Given the description of an element on the screen output the (x, y) to click on. 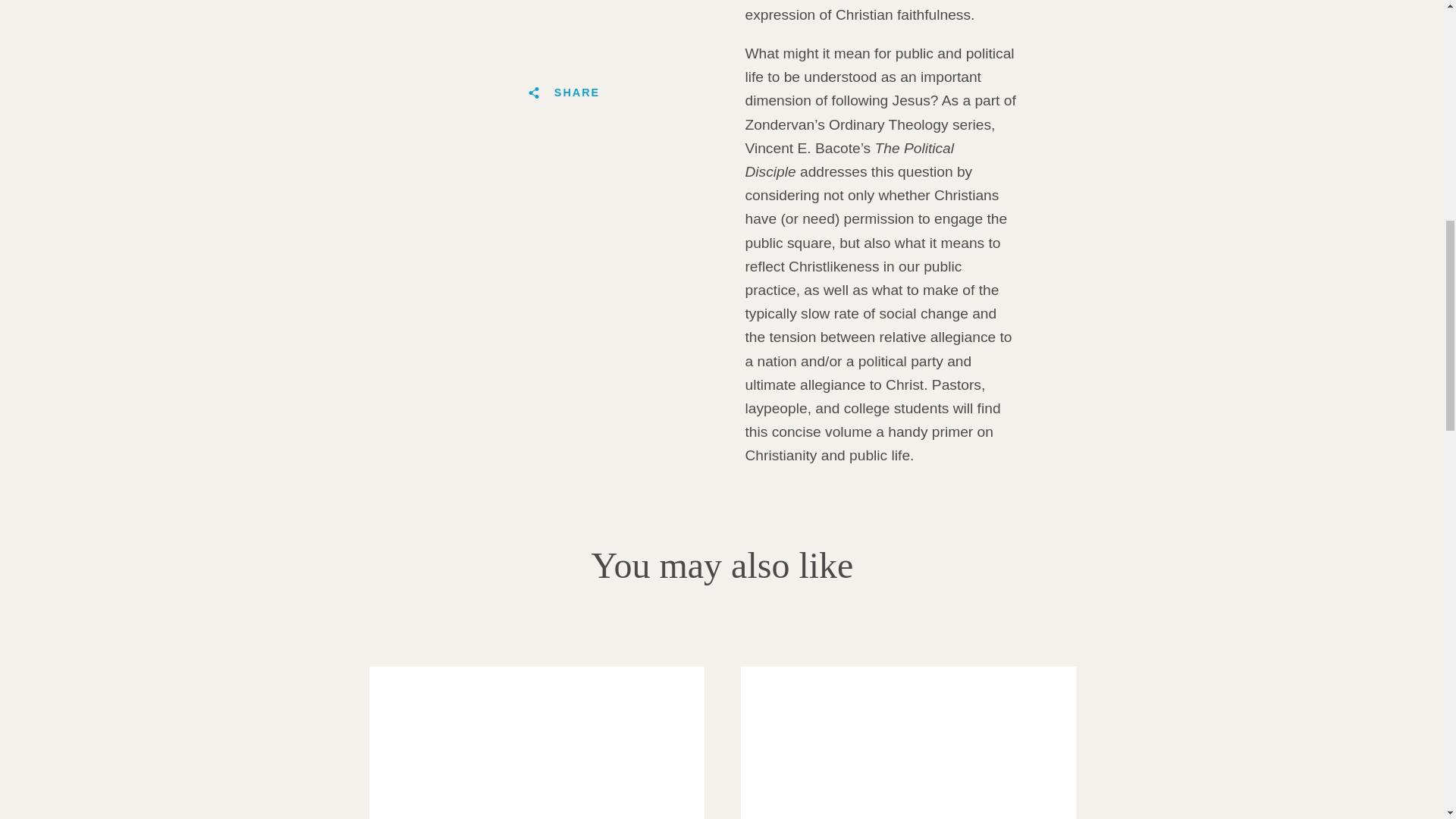
SHARE (562, 93)
